Given the description of an element on the screen output the (x, y) to click on. 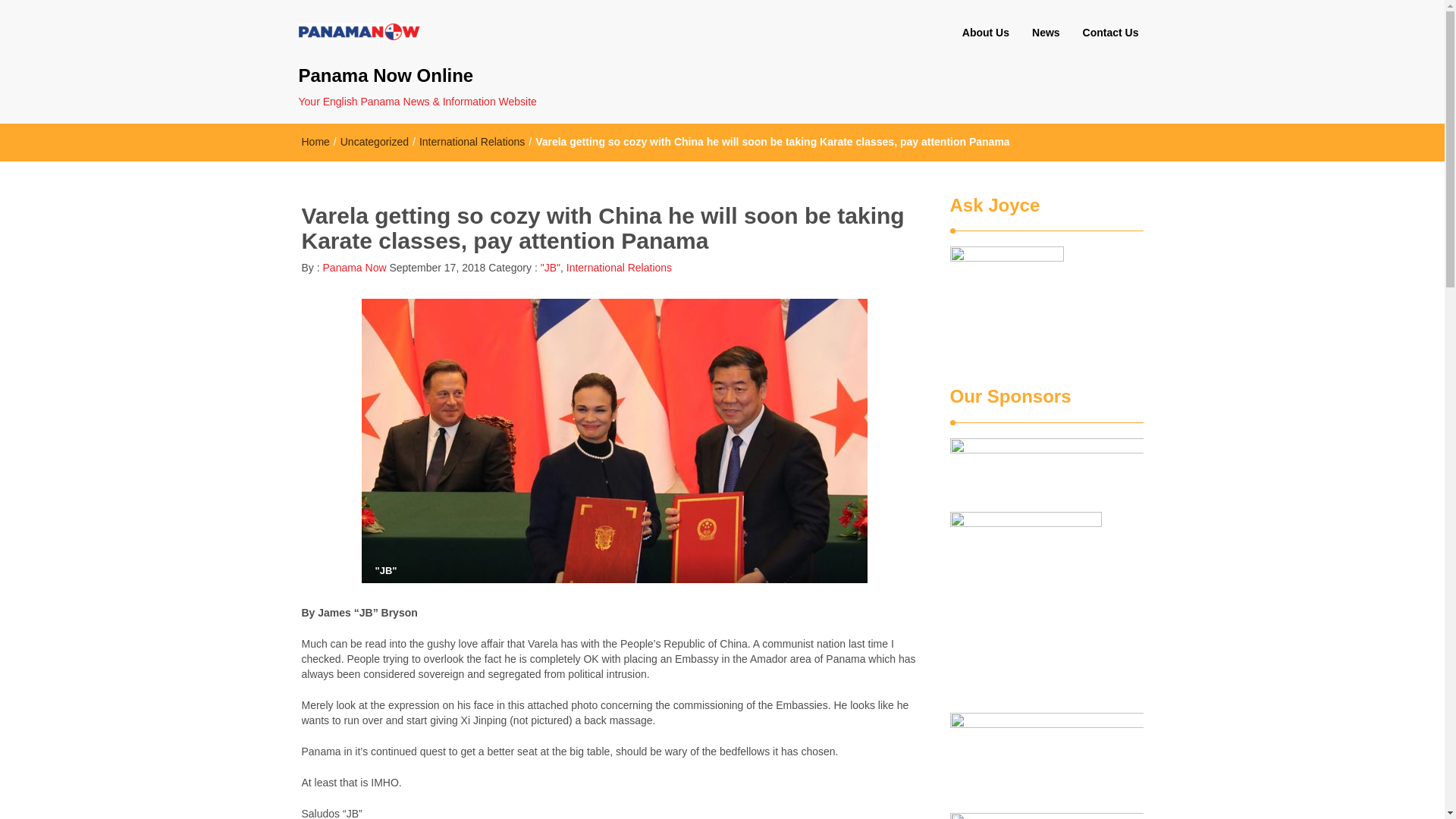
International Relations (618, 267)
"JB" (550, 267)
International Relations (471, 141)
Contact Us (1110, 32)
Panama Now Online (446, 75)
Uncategorized (374, 141)
News (1045, 32)
Home (315, 141)
About Us (985, 32)
